Given the description of an element on the screen output the (x, y) to click on. 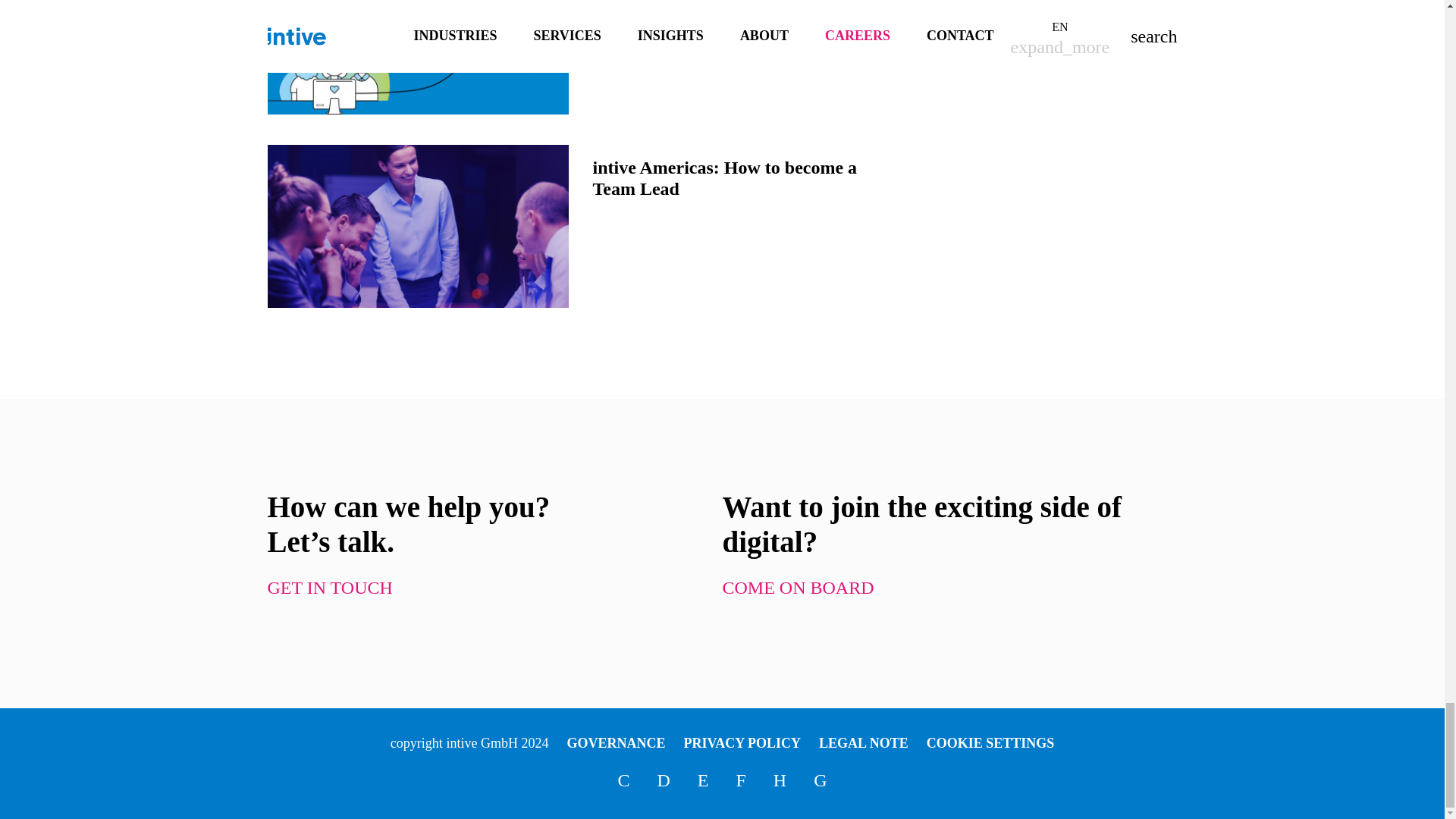
GOVERNANCE (616, 743)
GET IN TOUCH (328, 587)
PRIVACY POLICY (743, 743)
LEGAL NOTE (863, 743)
COME ON BOARD (797, 587)
